Given the description of an element on the screen output the (x, y) to click on. 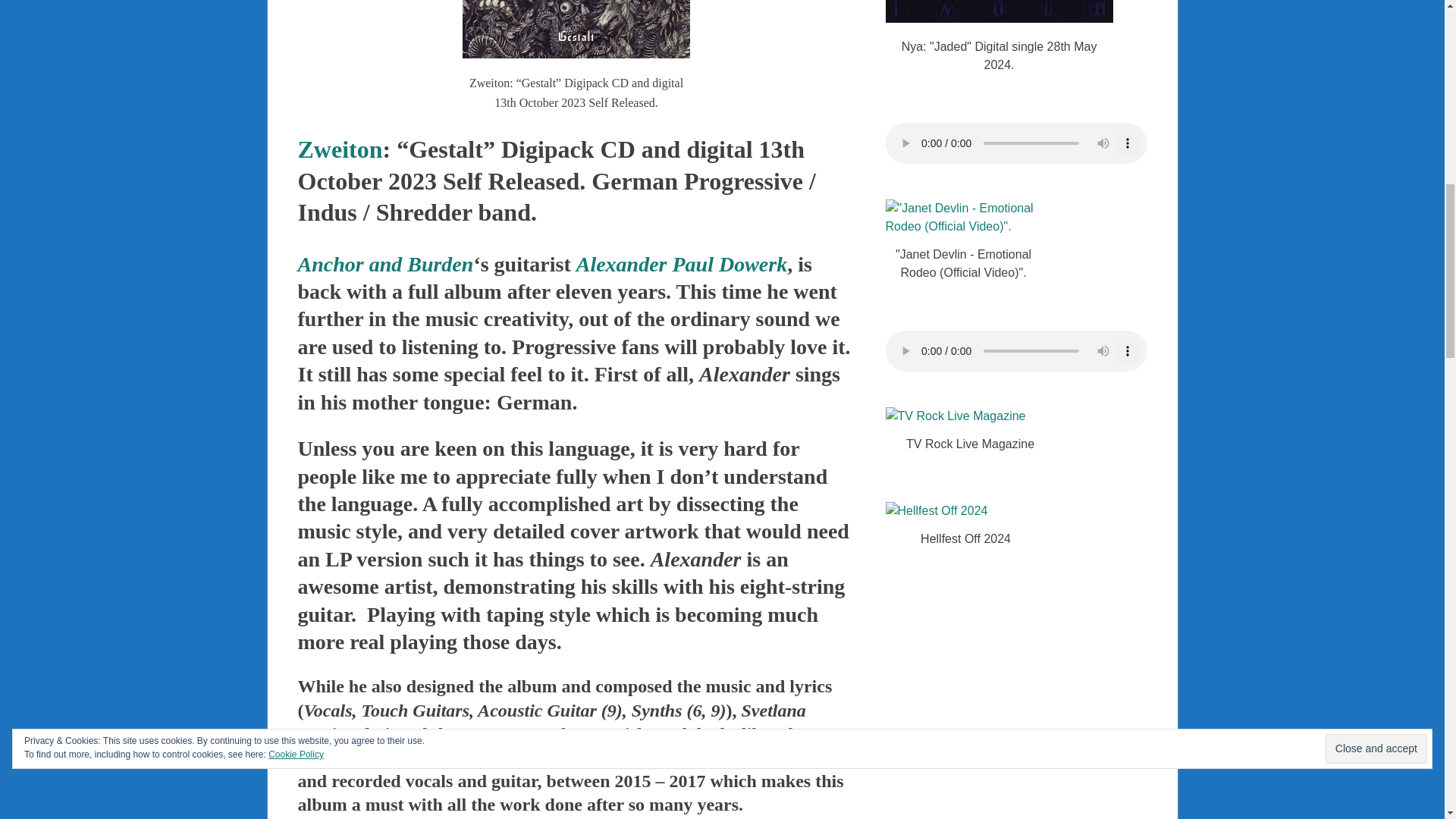
Anchor and Burden (385, 264)
Zweiton (339, 148)
Alexander Paul Dowerk (681, 264)
